Given the description of an element on the screen output the (x, y) to click on. 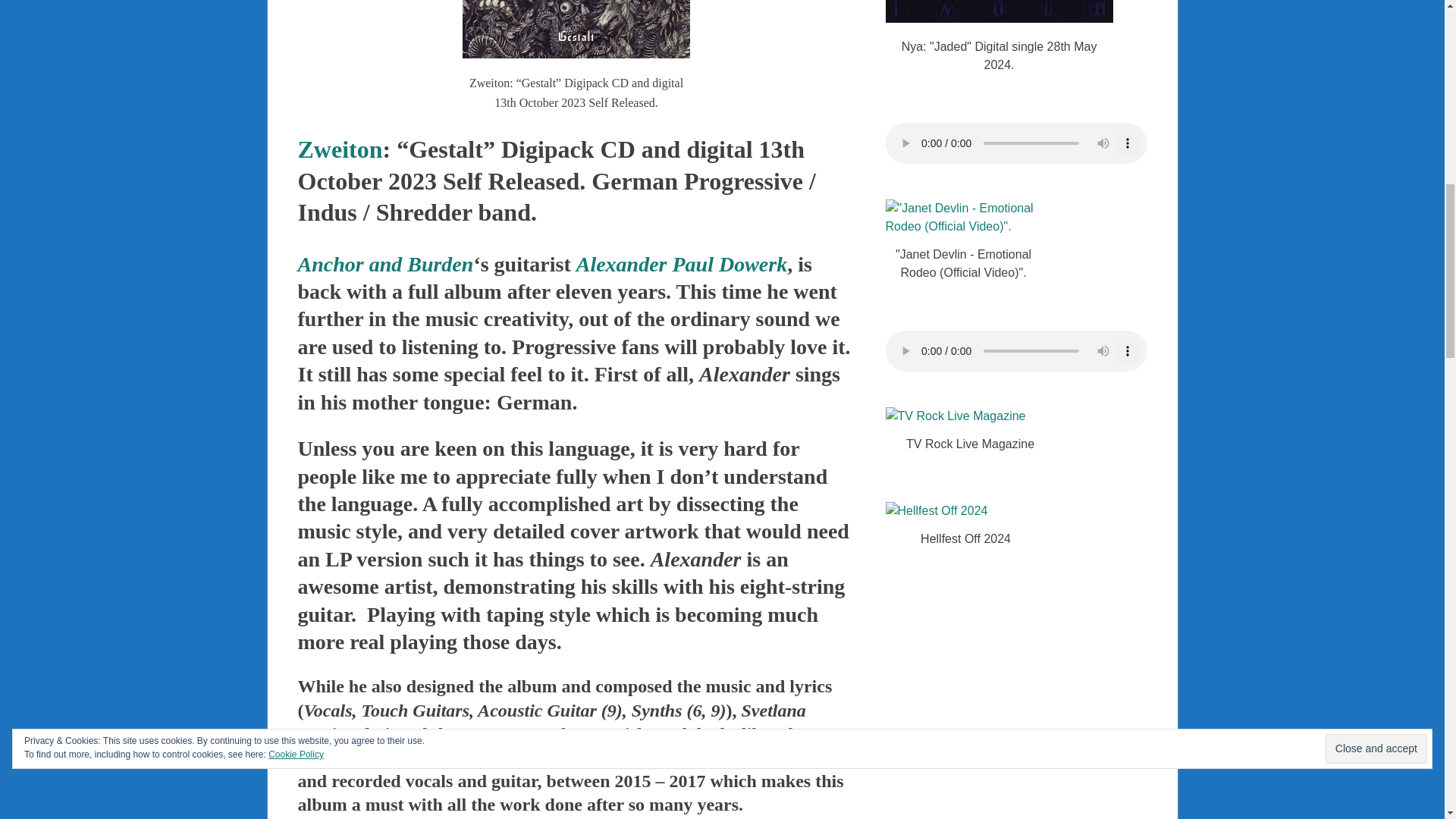
Anchor and Burden (385, 264)
Zweiton (339, 148)
Alexander Paul Dowerk (681, 264)
